Given the description of an element on the screen output the (x, y) to click on. 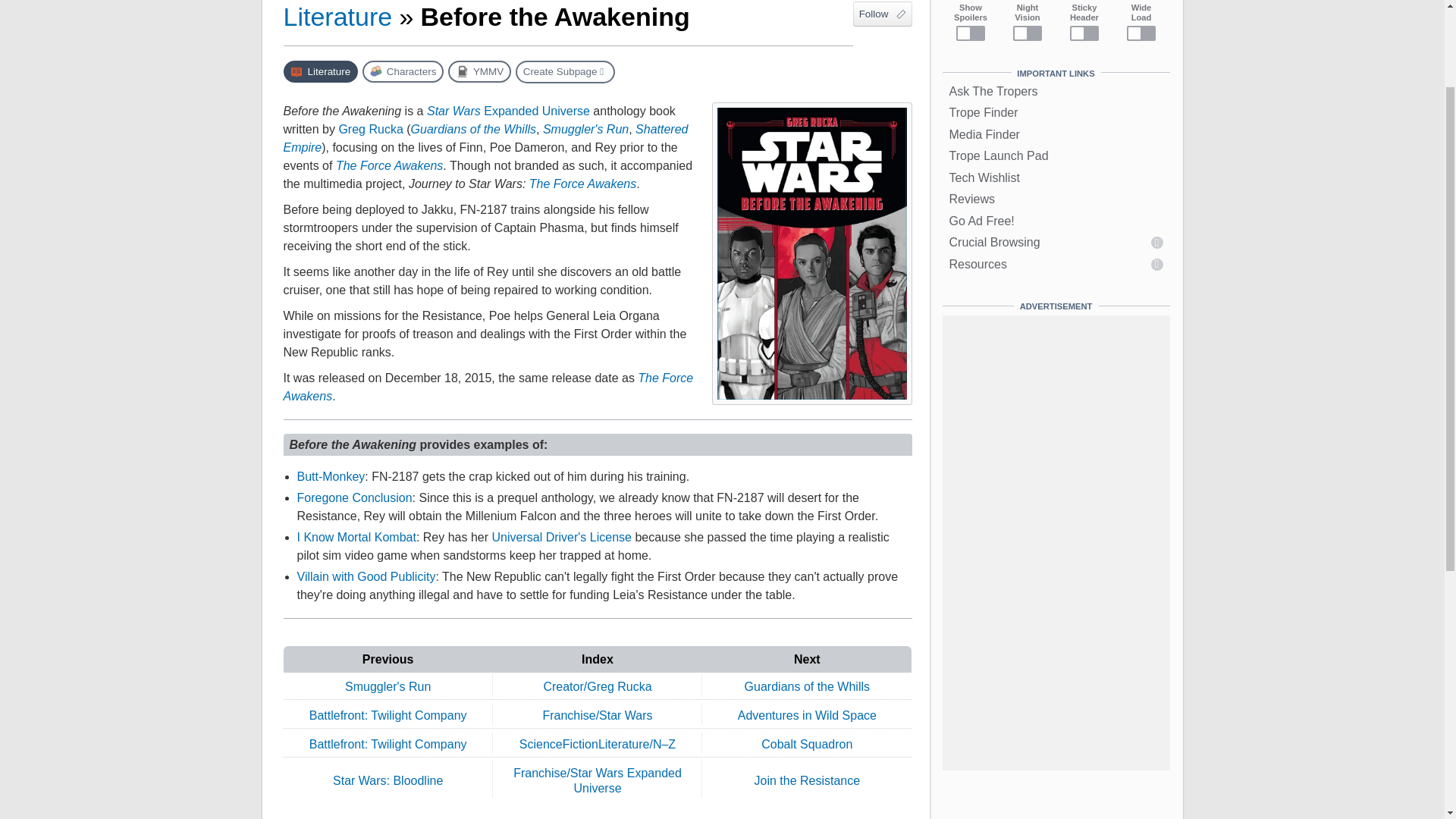
The Literature page (320, 71)
The YMMV page (479, 71)
The Characters page (403, 71)
